Given the description of an element on the screen output the (x, y) to click on. 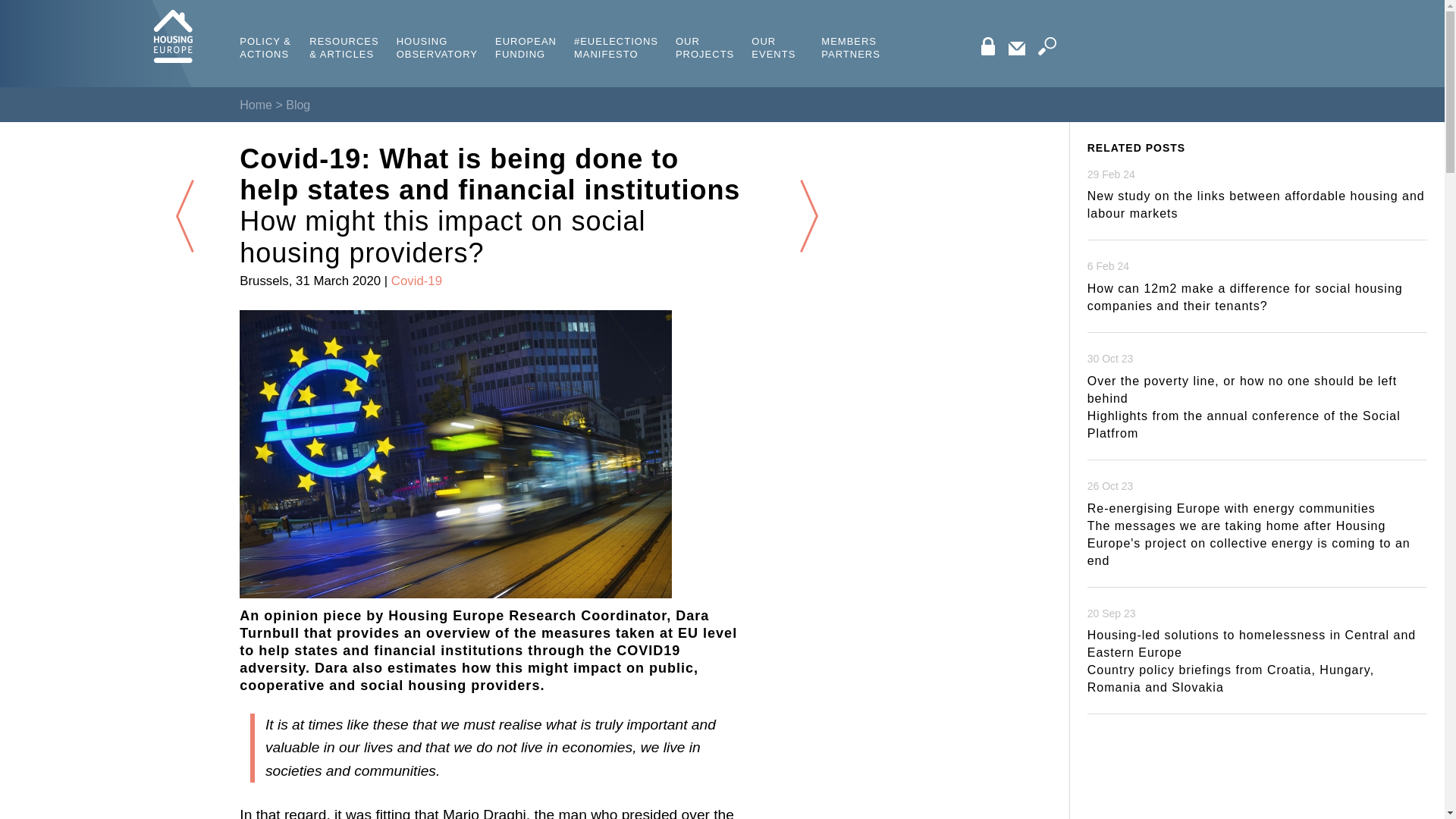
MEMBERS PARTNERS (850, 30)
European Funding (525, 30)
Housing Observatory (436, 30)
Blog (297, 104)
OUR PROJECTS (704, 30)
Home (256, 104)
EUROPEAN FUNDING (525, 30)
Our Projects (704, 30)
HOUSING OBSERVATORY (436, 30)
Members Partners (850, 30)
Covid-19 (416, 280)
